Given the description of an element on the screen output the (x, y) to click on. 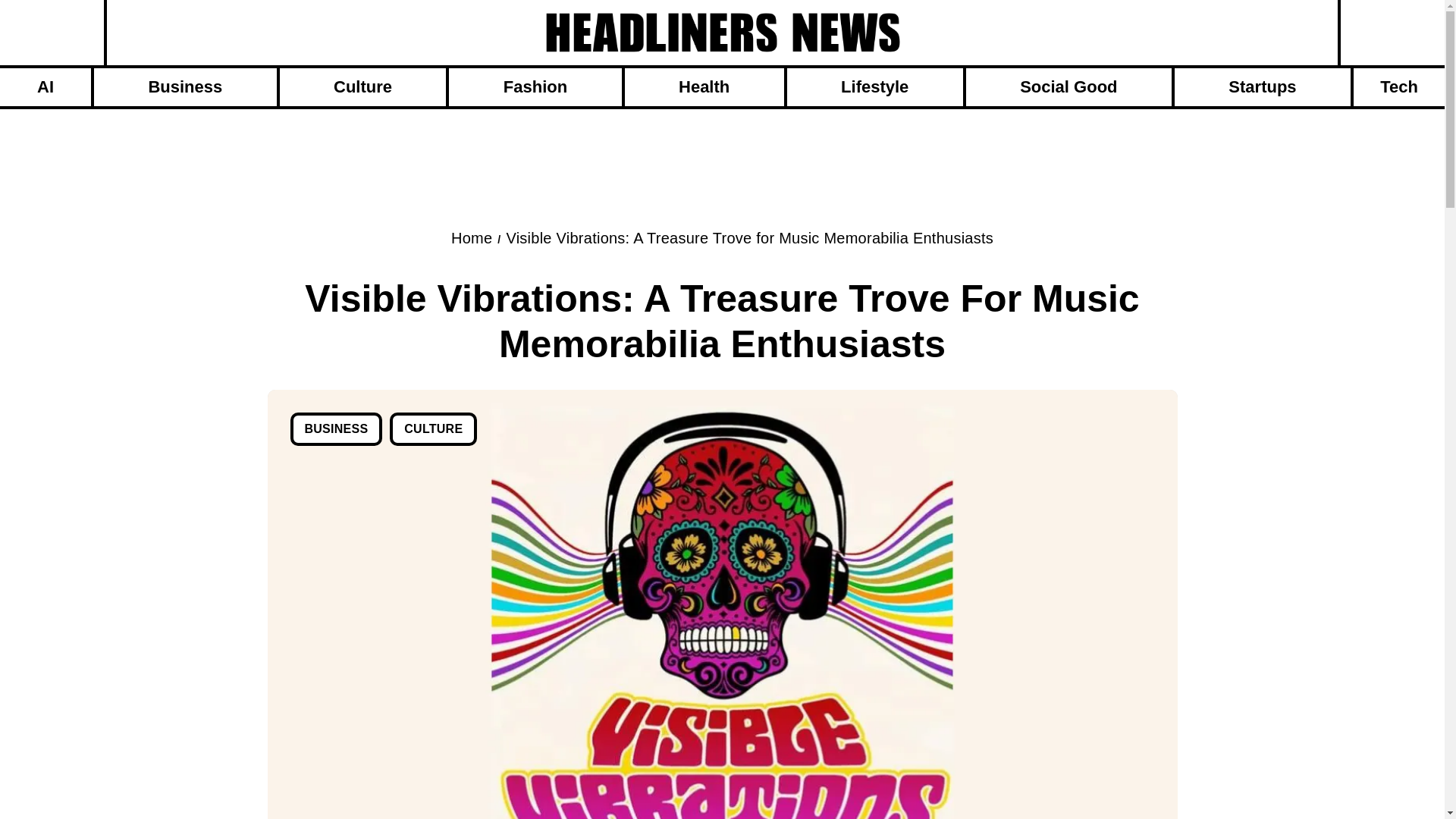
Health (704, 86)
Lifestyle (874, 86)
AI (45, 86)
CULTURE (433, 428)
Startups (1262, 86)
Home (471, 238)
Social Good (1069, 86)
Business (185, 86)
BUSINESS (335, 428)
